Given the description of an element on the screen output the (x, y) to click on. 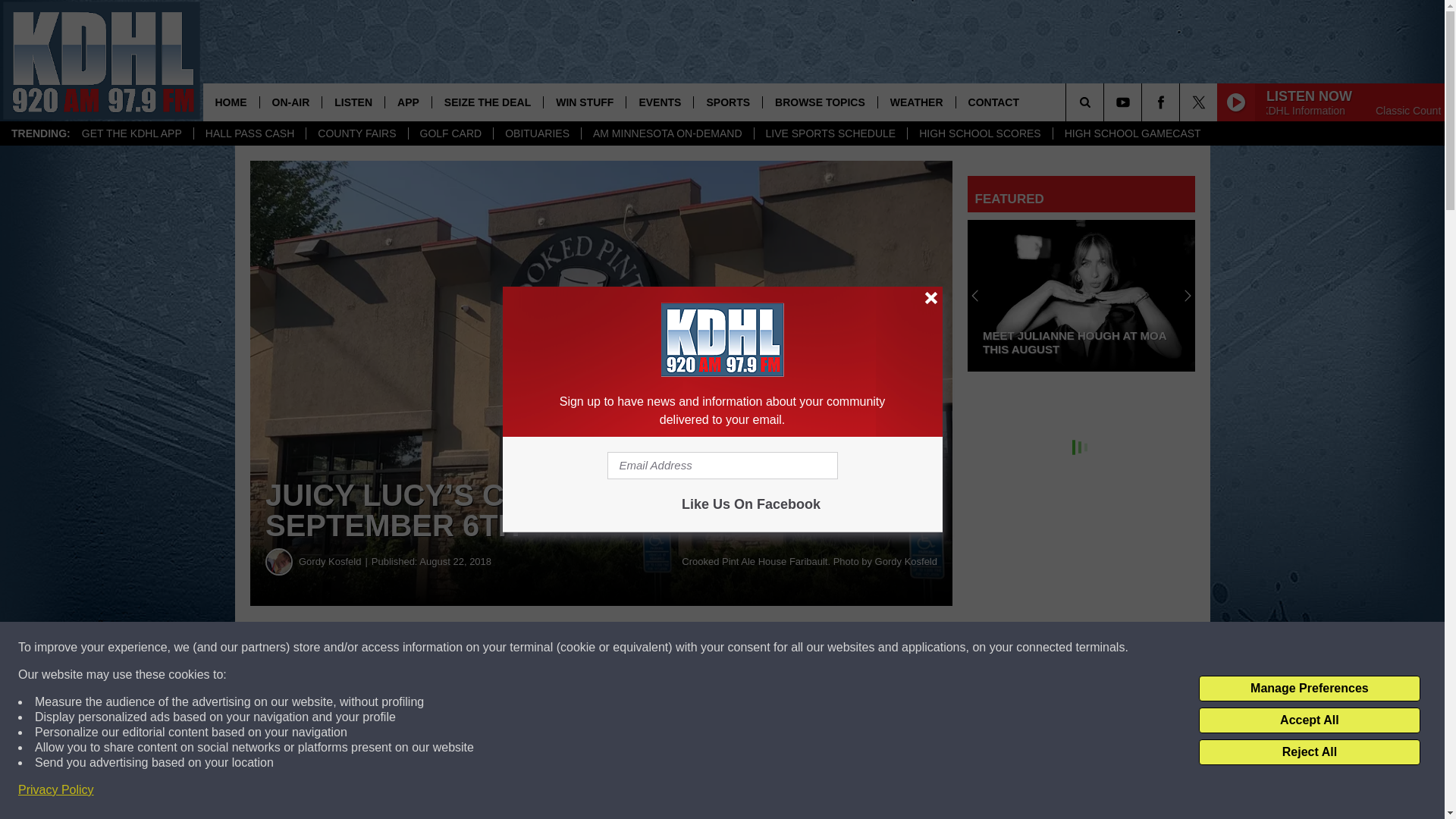
WIN STUFF (584, 102)
HIGH SCHOOL SCORES (979, 133)
SEARCH (1106, 102)
Manage Preferences (1309, 688)
SEIZE THE DEAL (486, 102)
AM MINNESOTA ON-DEMAND (667, 133)
HOME (231, 102)
Privacy Policy (55, 789)
Share on Twitter (741, 647)
OBITUARIES (536, 133)
COUNTY FAIRS (356, 133)
GET THE KDHL APP (131, 133)
EVENTS (659, 102)
HIGH SCHOOL GAMECAST (1132, 133)
GOLF CARD (450, 133)
